Given the description of an element on the screen output the (x, y) to click on. 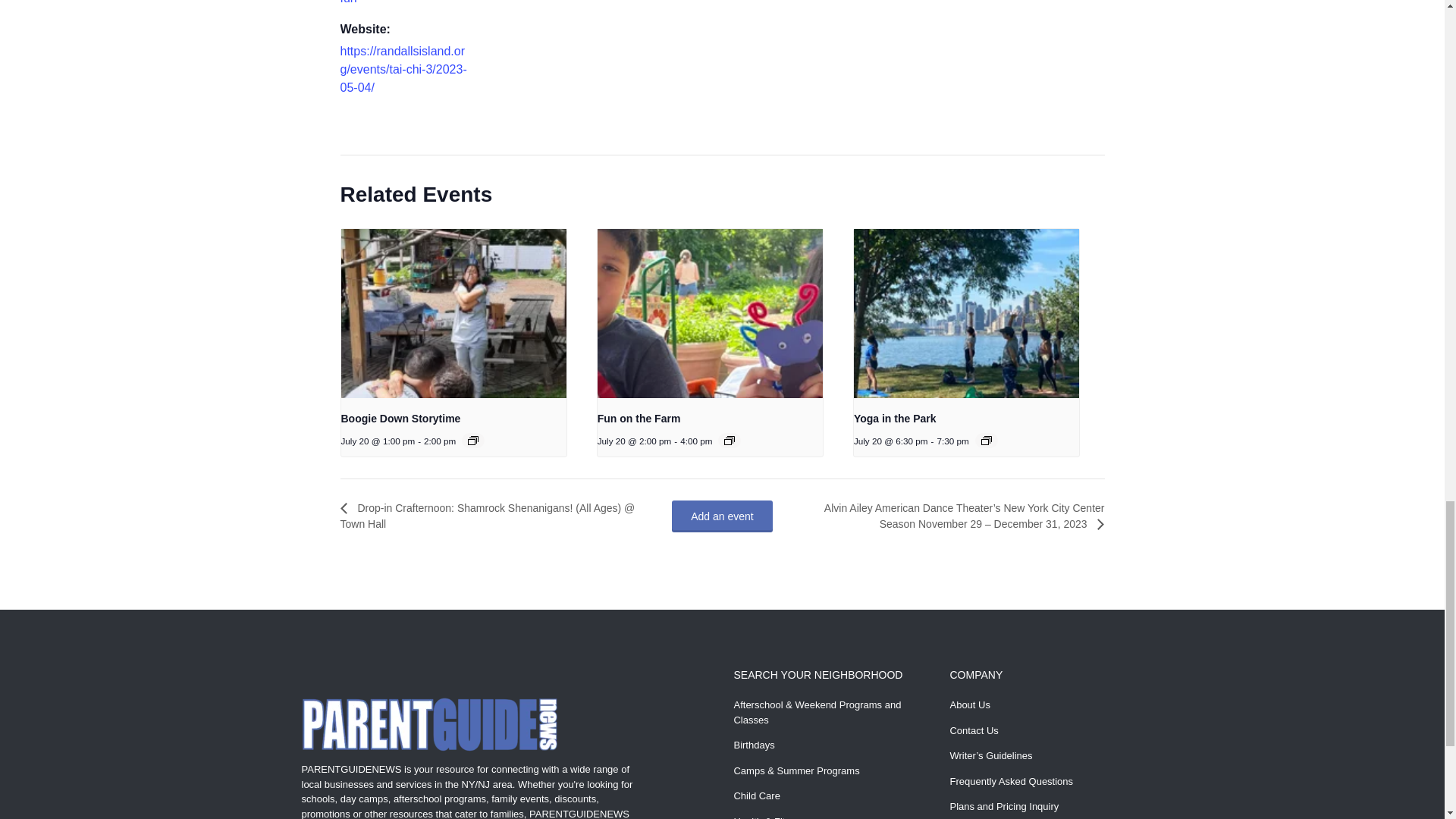
Event Series (473, 440)
Event Series (729, 440)
Event Series (986, 440)
